Given the description of an element on the screen output the (x, y) to click on. 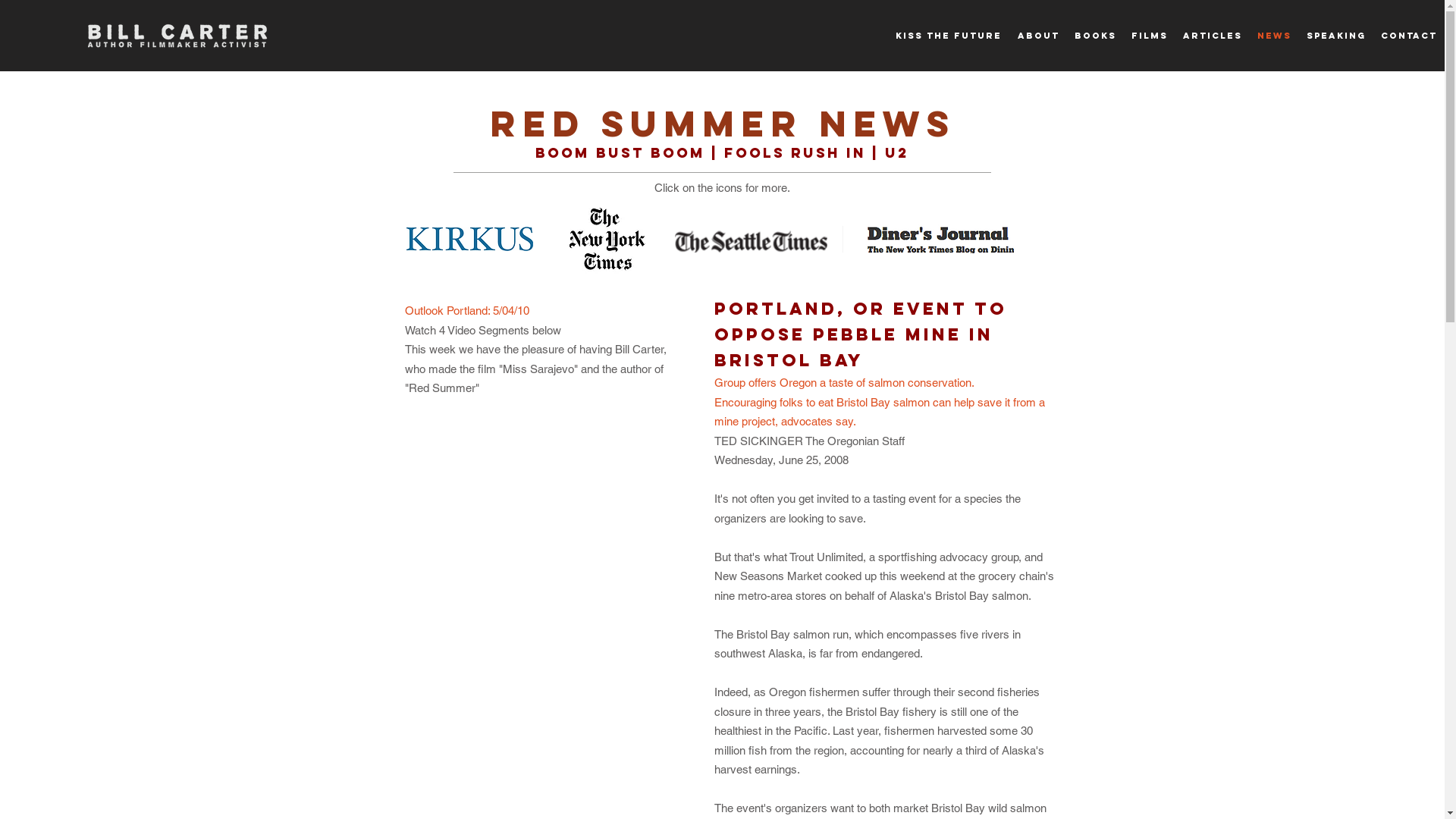
ARTICLES Element type: text (1212, 35)
Screen Shot 2016-07-28 at 10.06.16 AM.png Element type: hover (938, 238)
SPEAKING Element type: text (1336, 35)
CONTACT Element type: text (1408, 35)
BOOKS Element type: text (1094, 35)
FOOLS RUSH IN |  Element type: text (804, 152)
ABOUT Element type: text (1037, 35)
New_York_Times_logo_variation.jpg Element type: hover (607, 238)
kirkus_500x95.png Element type: hover (469, 238)
External YouTube Element type: hover (542, 508)
U2 Element type: text (896, 152)
seattletimeslogo_inside_pulitzer.gif Element type: hover (758, 238)
External YouTube Element type: hover (542, 702)
NEWS Element type: text (1274, 35)
boom bust boom Element type: text (620, 152)
KISS THE FUTURE Element type: text (948, 35)
